Given the description of an element on the screen output the (x, y) to click on. 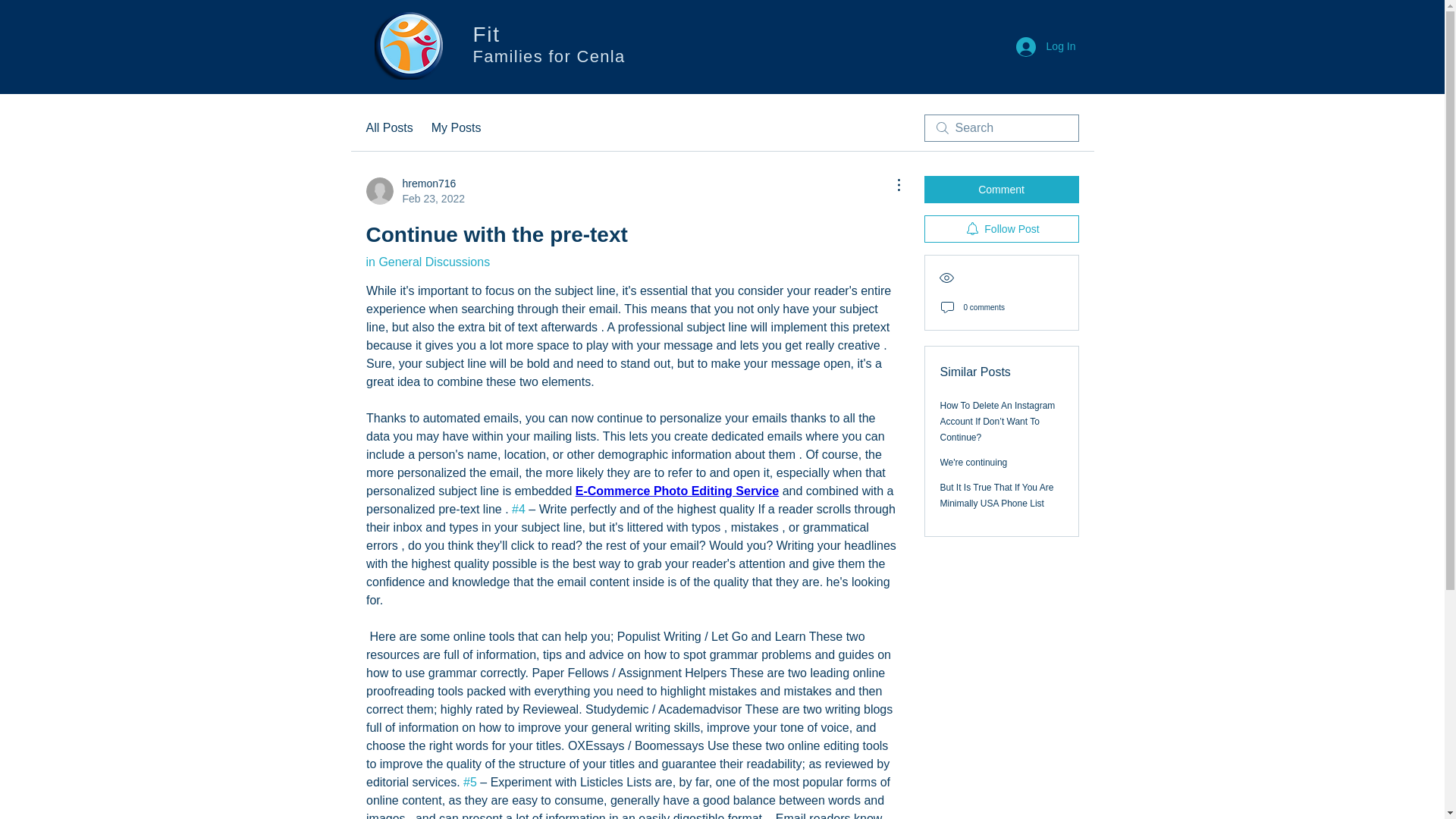
Fit  (414, 191)
But It Is True That If You Are Minimally USA Phone List (490, 35)
Comment (997, 495)
All Posts (1000, 189)
Follow Post (388, 127)
in General Discussions (1000, 228)
E-Commerce Photo Editing Service (427, 261)
My Posts (676, 490)
We're continuing (455, 127)
Log In (973, 462)
Families for Cenla (1046, 46)
